Given the description of an element on the screen output the (x, y) to click on. 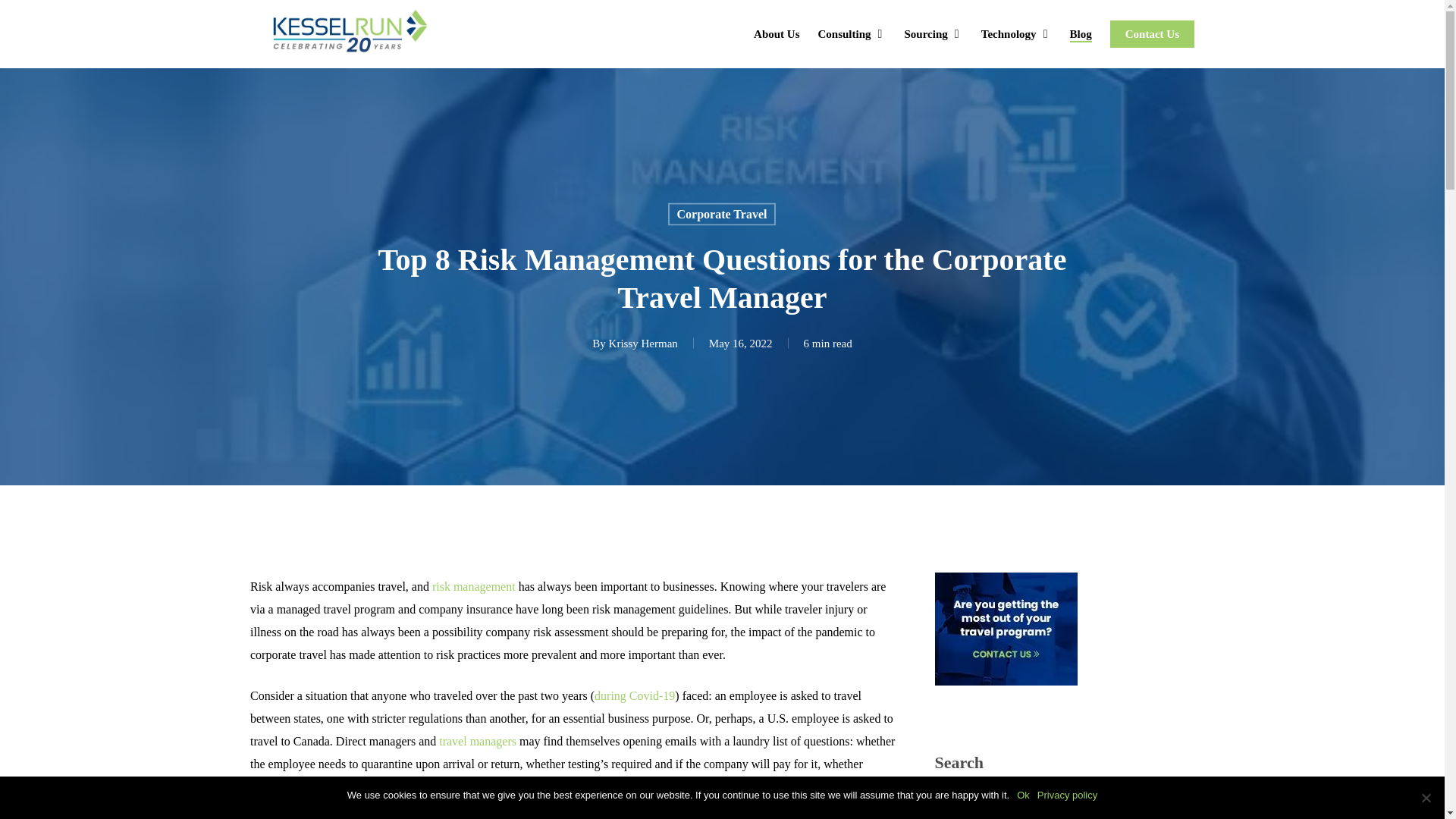
Blog (1081, 33)
risk management (473, 585)
Corporate Travel (722, 214)
No (1425, 797)
About Us (776, 33)
Posts by Krissy Herman (643, 342)
Consulting (850, 33)
Sourcing (933, 33)
Chat Widget (1406, 782)
during Covid-19 (634, 695)
